Given the description of an element on the screen output the (x, y) to click on. 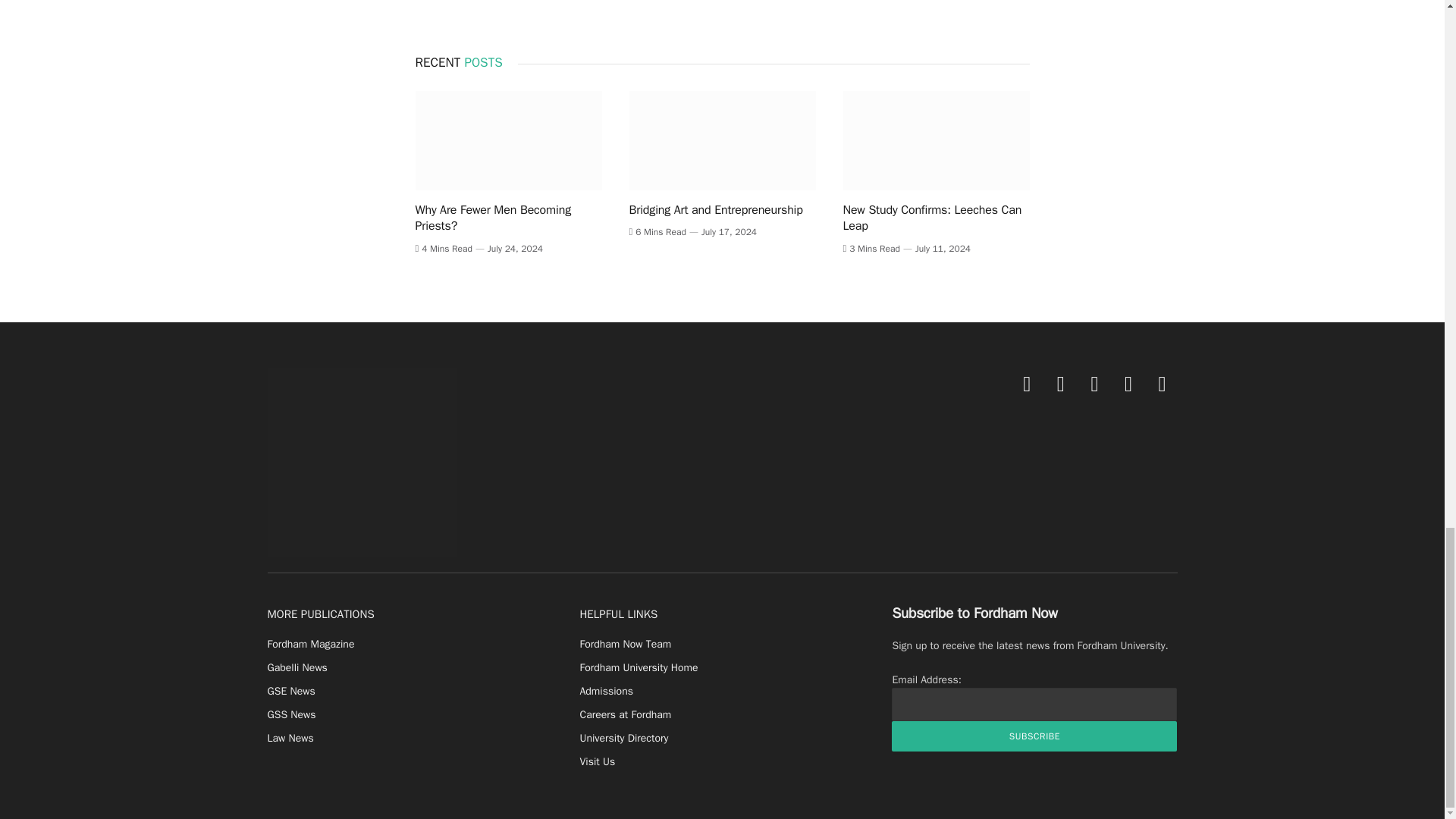
Bridging Art and Entrepreneurship (721, 140)
Why Are Fewer Men Becoming Priests? (508, 140)
Subscribe (1033, 736)
